Given the description of an element on the screen output the (x, y) to click on. 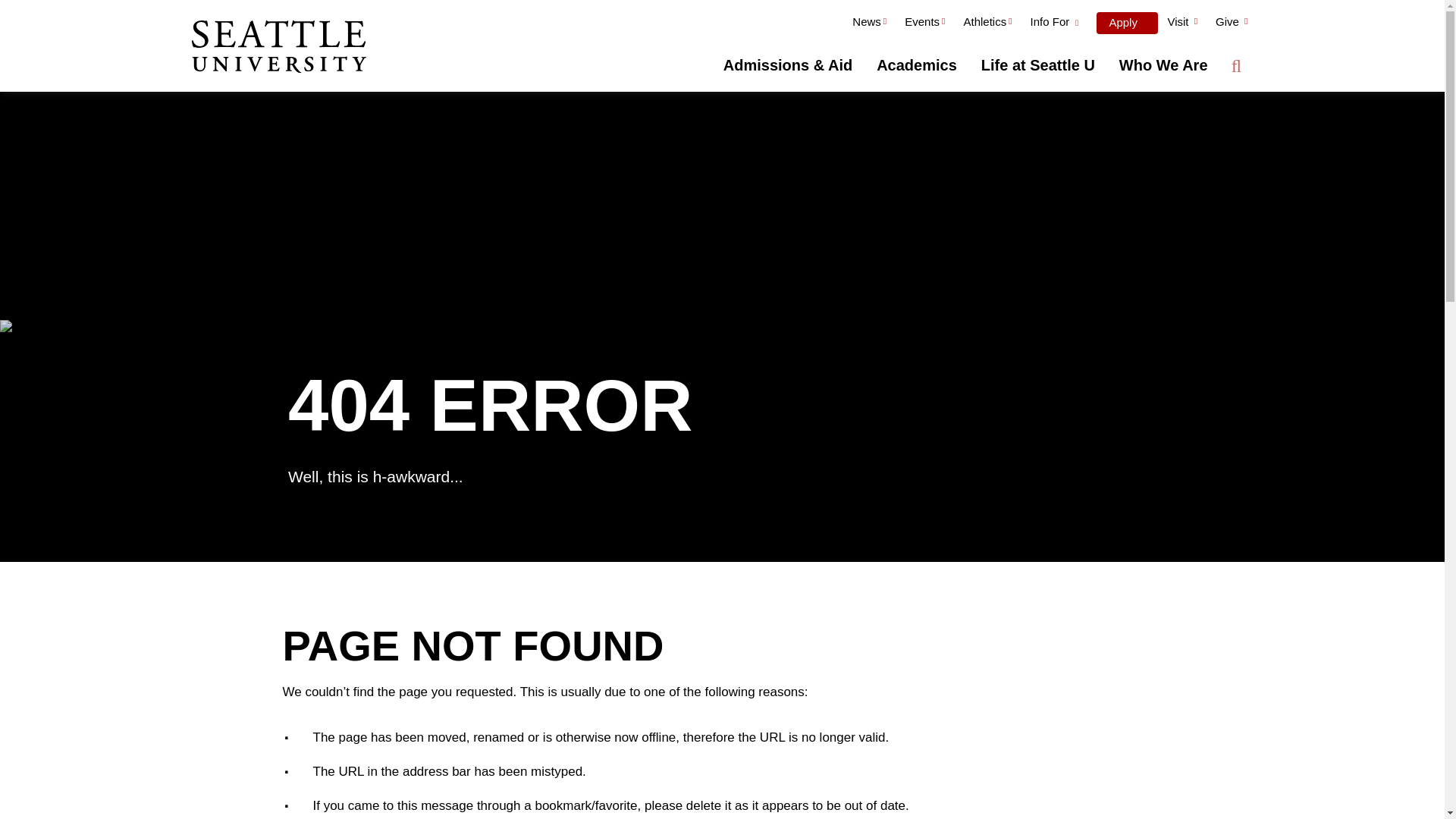
Life at Seattle U (1037, 65)
Apply (1126, 23)
News (869, 23)
Athletics (986, 23)
Academics (916, 65)
Events (924, 23)
Give (1231, 23)
Click to visit the home page (277, 47)
Visit (1182, 23)
